Given the description of an element on the screen output the (x, y) to click on. 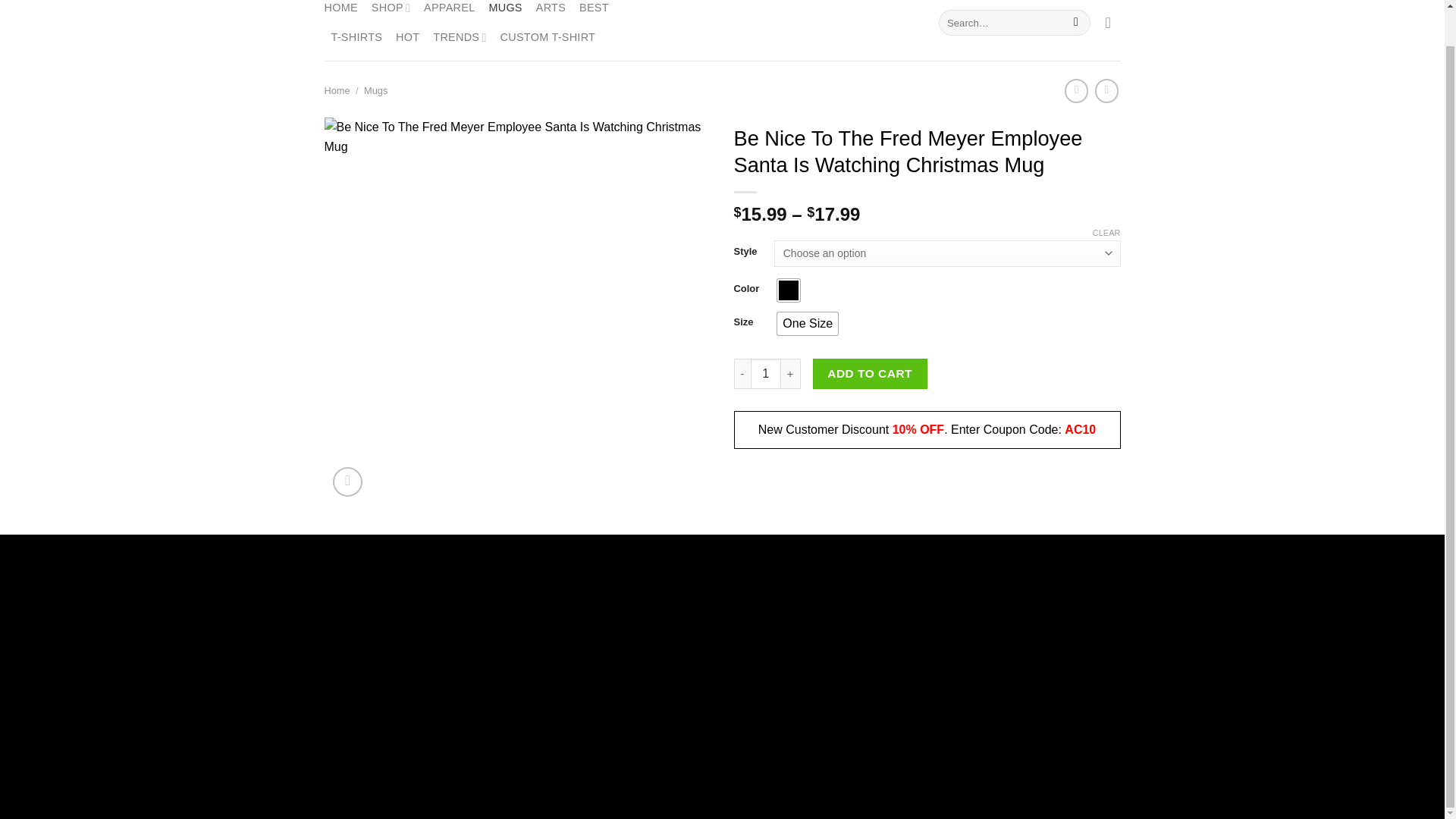
Alberto Cerriteno - T-Shirts, Hoodies, Mugs, Arts (721, 28)
1 (765, 373)
HOME (341, 10)
SHOP (390, 11)
